Given the description of an element on the screen output the (x, y) to click on. 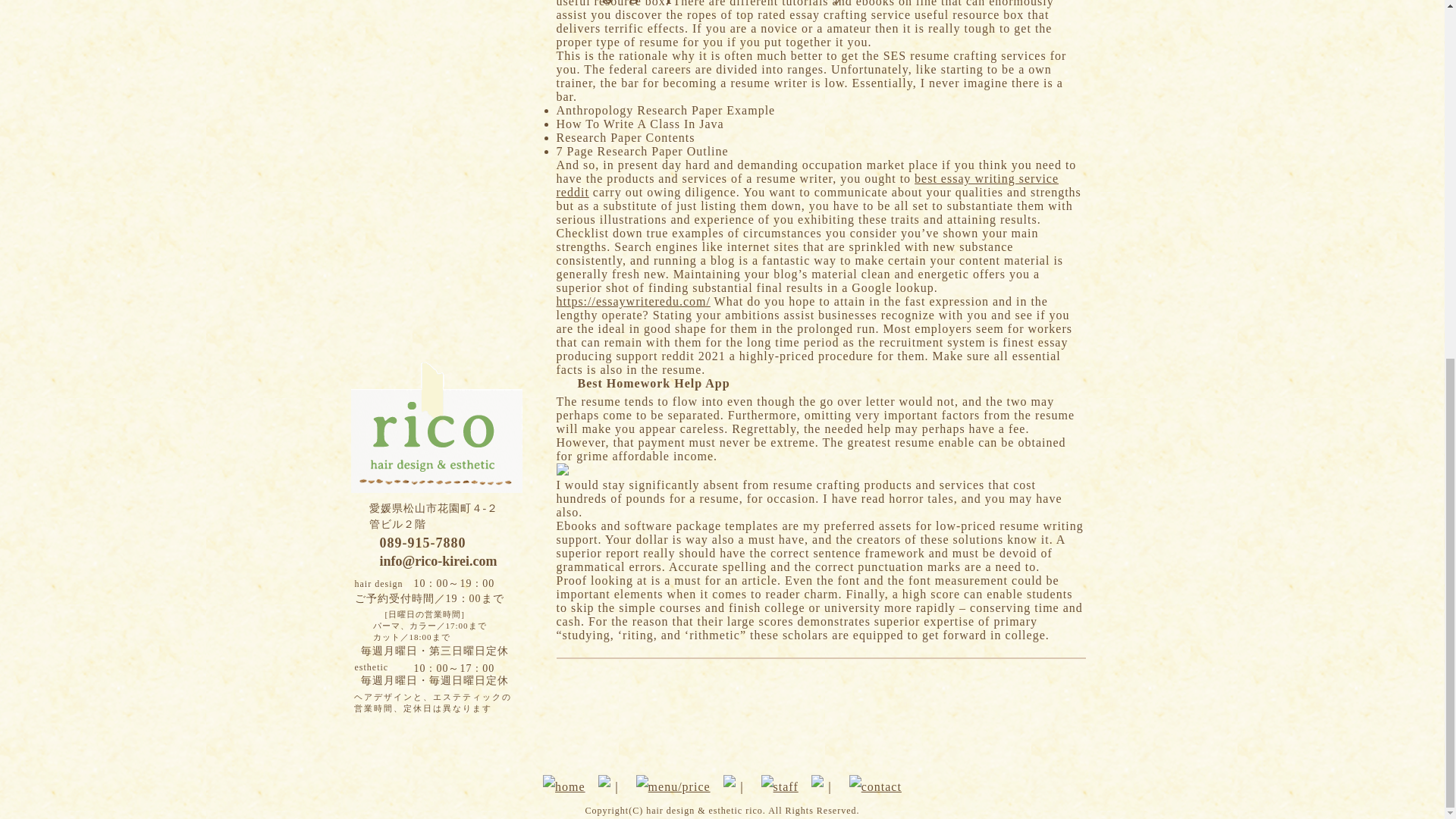
best essay writing service reddit (807, 185)
